Given the description of an element on the screen output the (x, y) to click on. 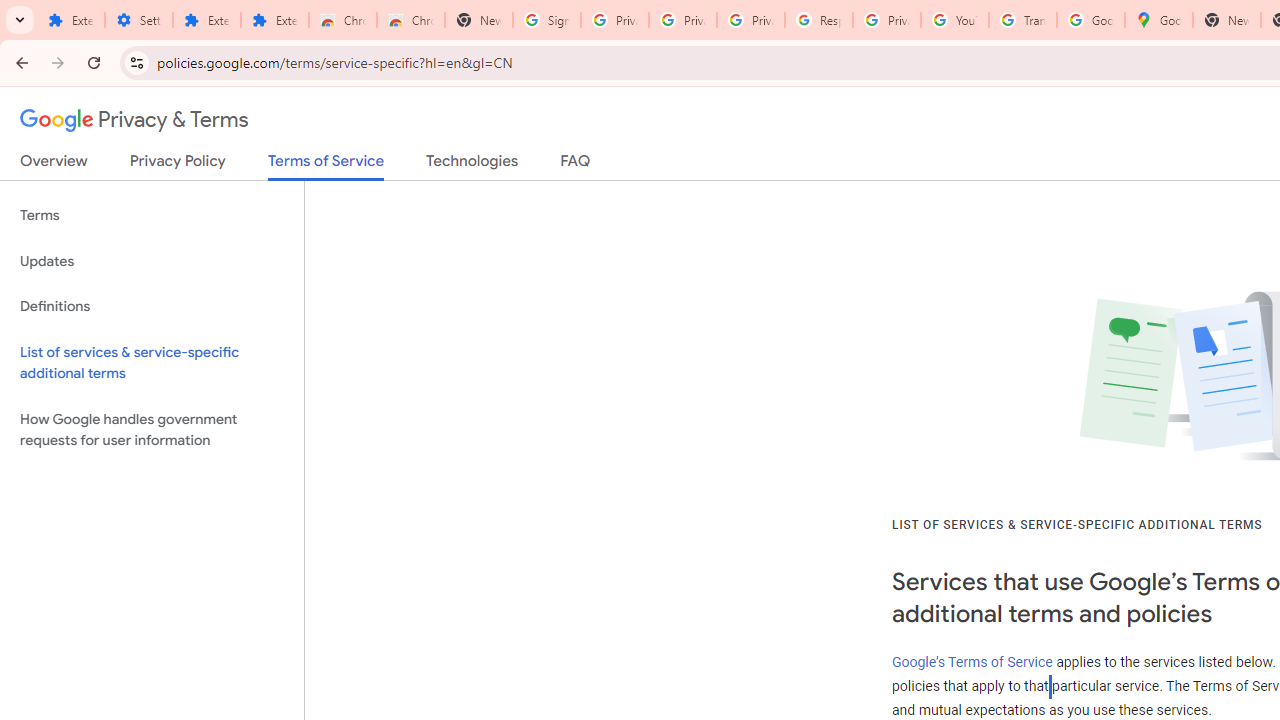
Extensions (274, 20)
Extensions (206, 20)
Chrome Web Store (342, 20)
Google Maps (1158, 20)
